Given the description of an element on the screen output the (x, y) to click on. 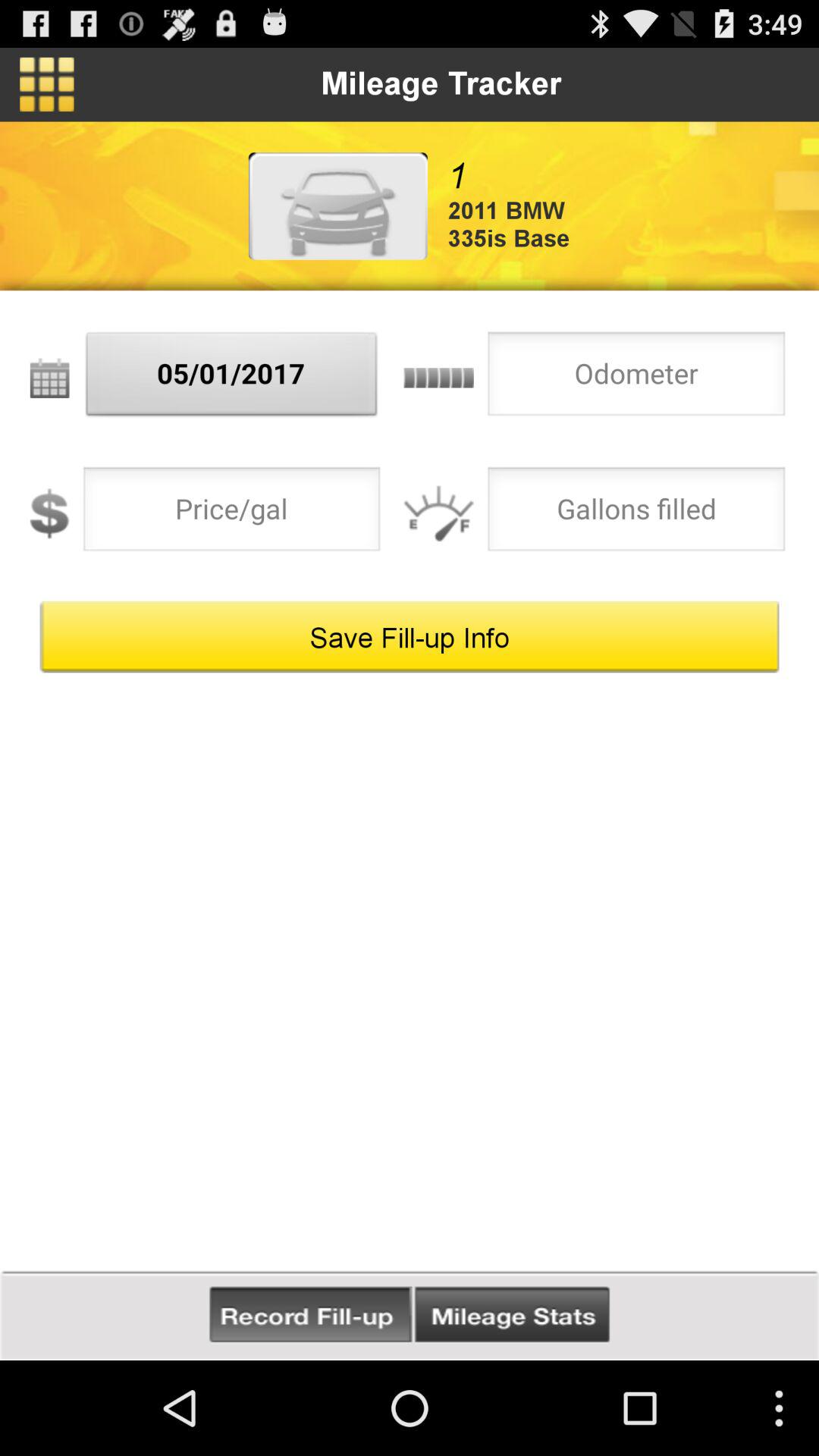
turn on the button below save fill up icon (310, 1315)
